Given the description of an element on the screen output the (x, y) to click on. 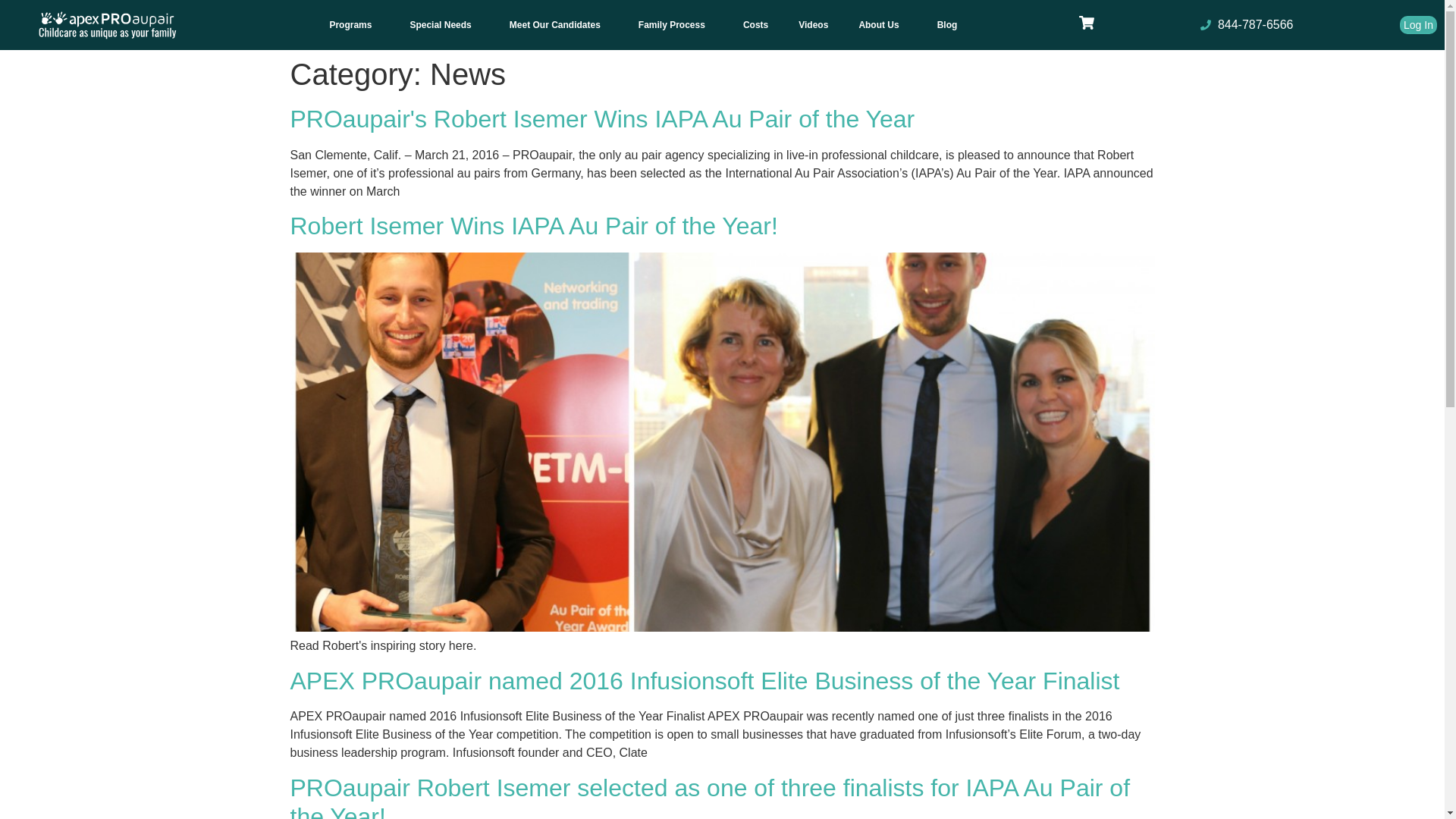
Videos (813, 24)
Special Needs (443, 24)
Costs (755, 24)
Meet Our Candidates (559, 24)
Programs (354, 24)
Special Needs (443, 24)
Family Process (675, 24)
About Us (882, 24)
Blog (946, 24)
Programs (354, 24)
Meet Our Candidates (559, 24)
